Given the description of an element on the screen output the (x, y) to click on. 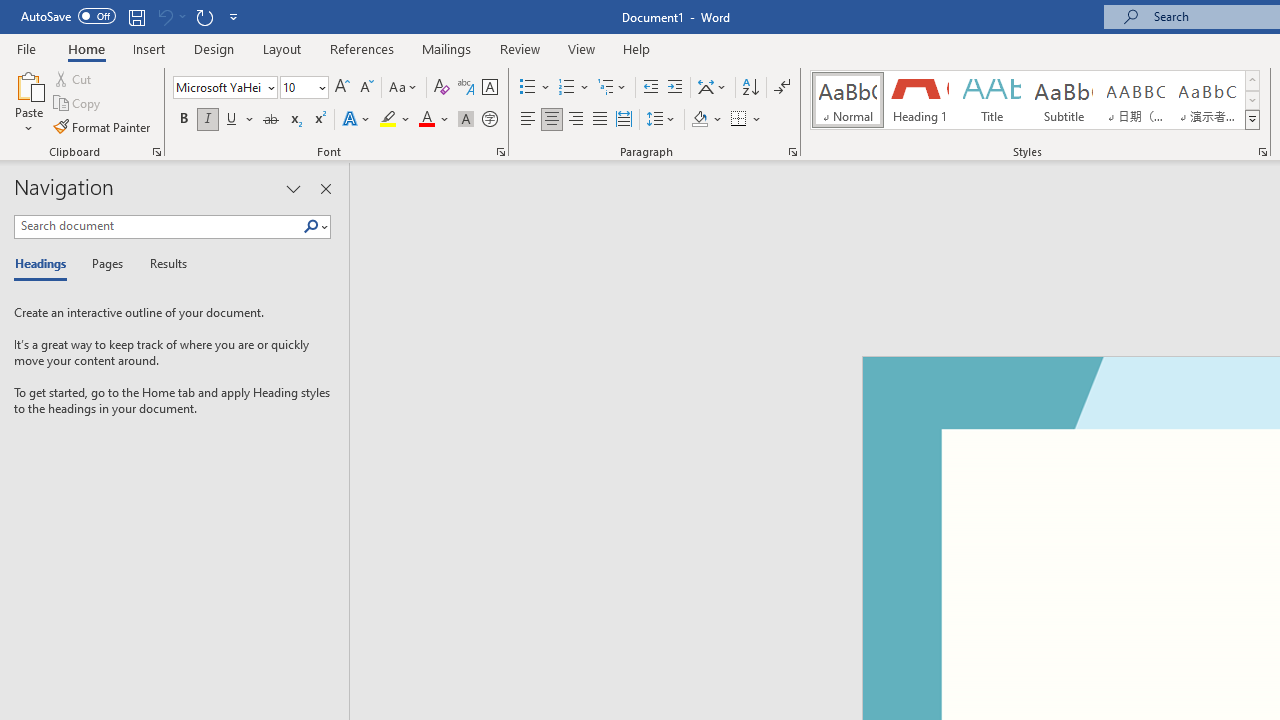
Can't Undo (164, 15)
